Given the description of an element on the screen output the (x, y) to click on. 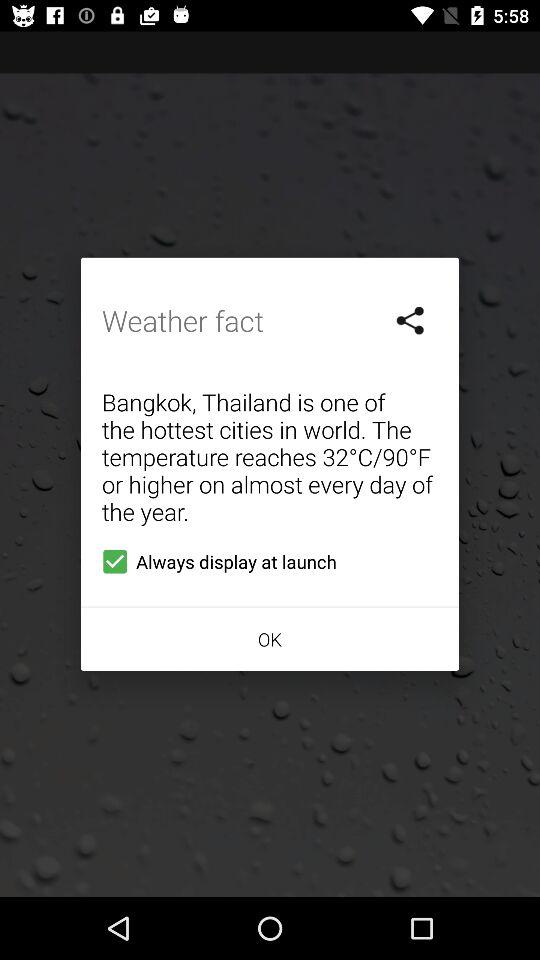
turn on ok (270, 638)
